Given the description of an element on the screen output the (x, y) to click on. 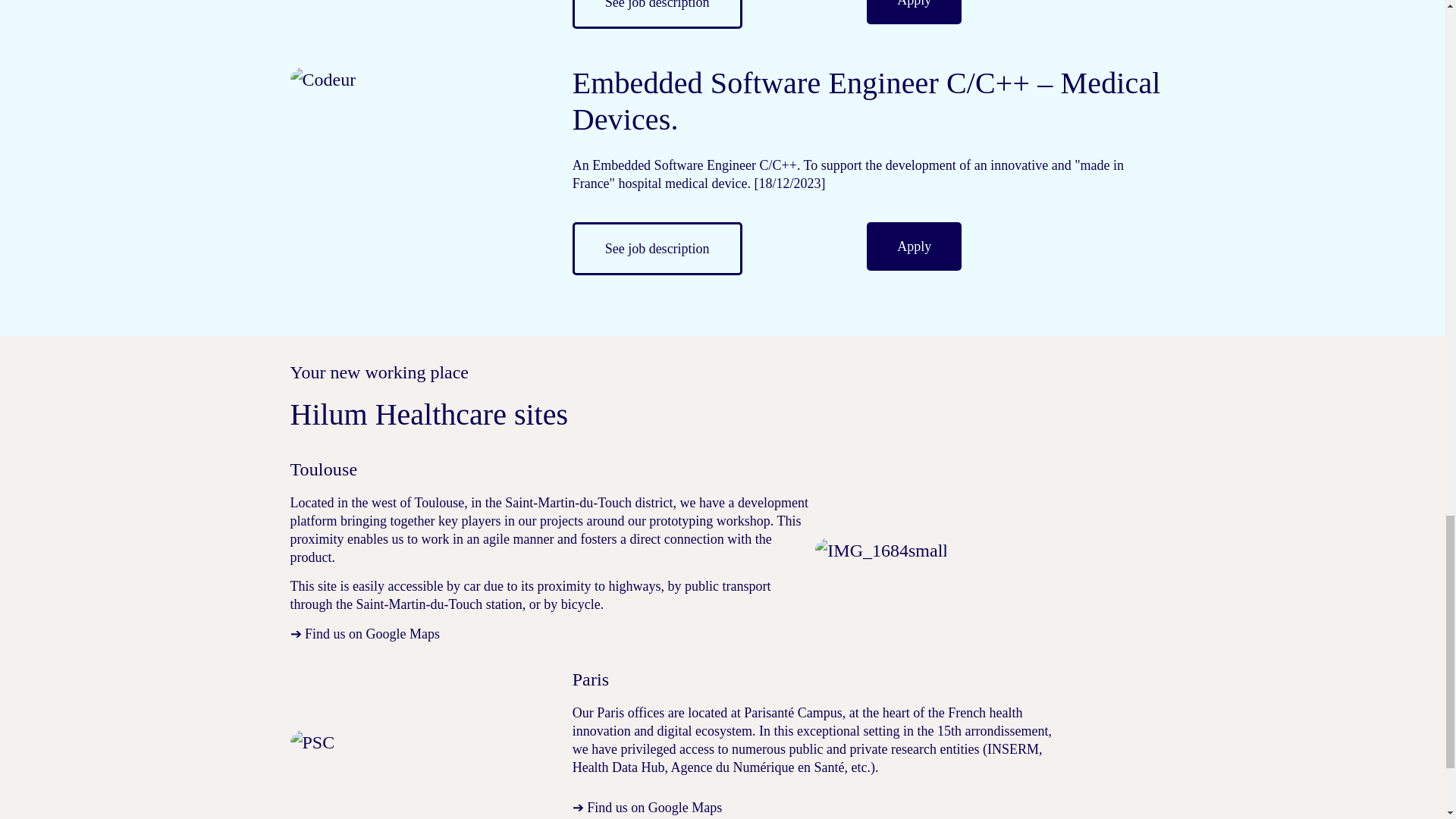
Find us on Google Maps (371, 633)
See job description (657, 248)
PSC (311, 742)
Apply (913, 12)
Apply (913, 246)
Codeur (322, 79)
Find us on Google Maps (654, 807)
See job description (657, 14)
